Given the description of an element on the screen output the (x, y) to click on. 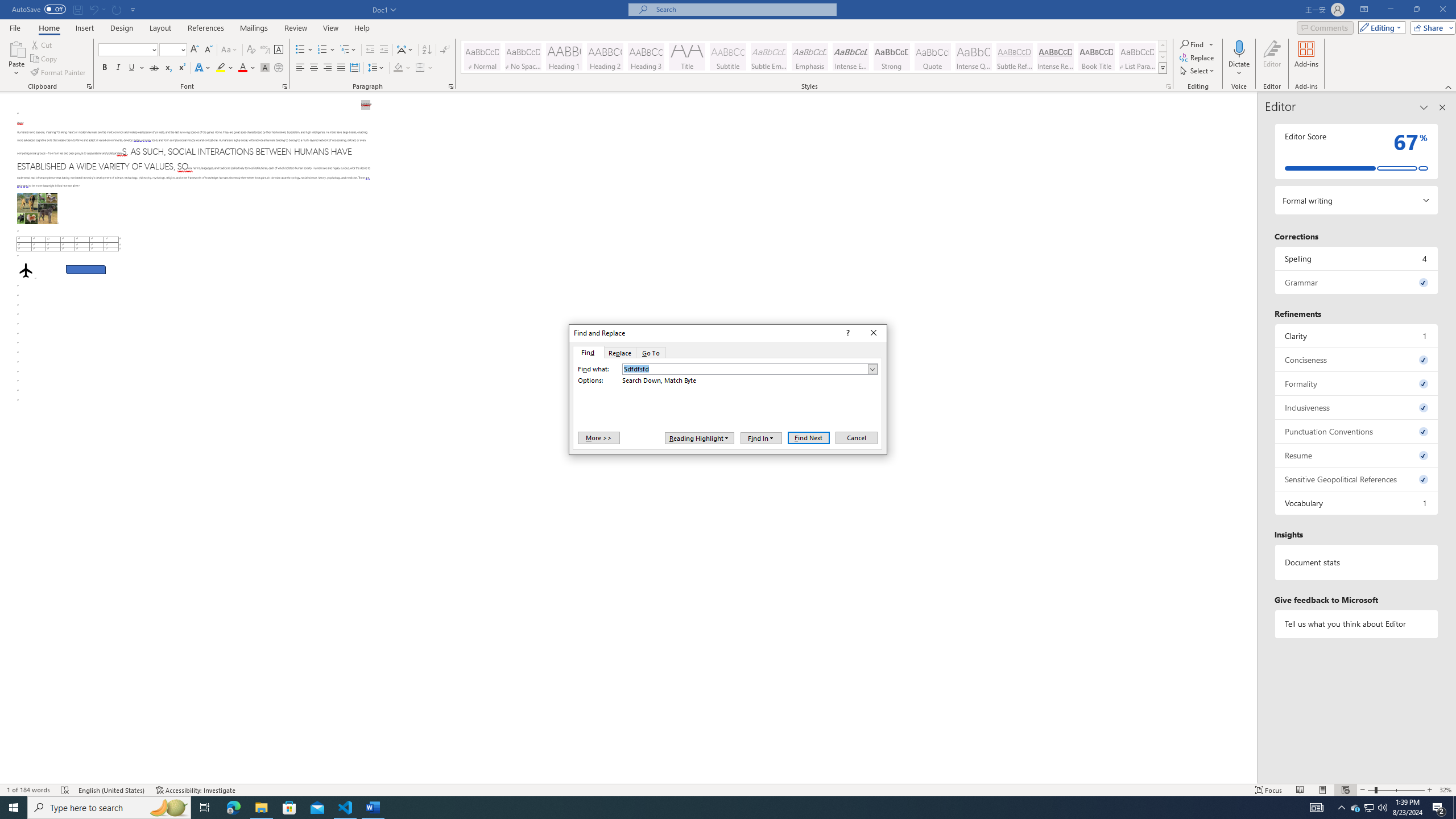
Word Count 1 of 184 words (28, 790)
Find what: (749, 369)
Subtle Emphasis (768, 56)
